Given the description of an element on the screen output the (x, y) to click on. 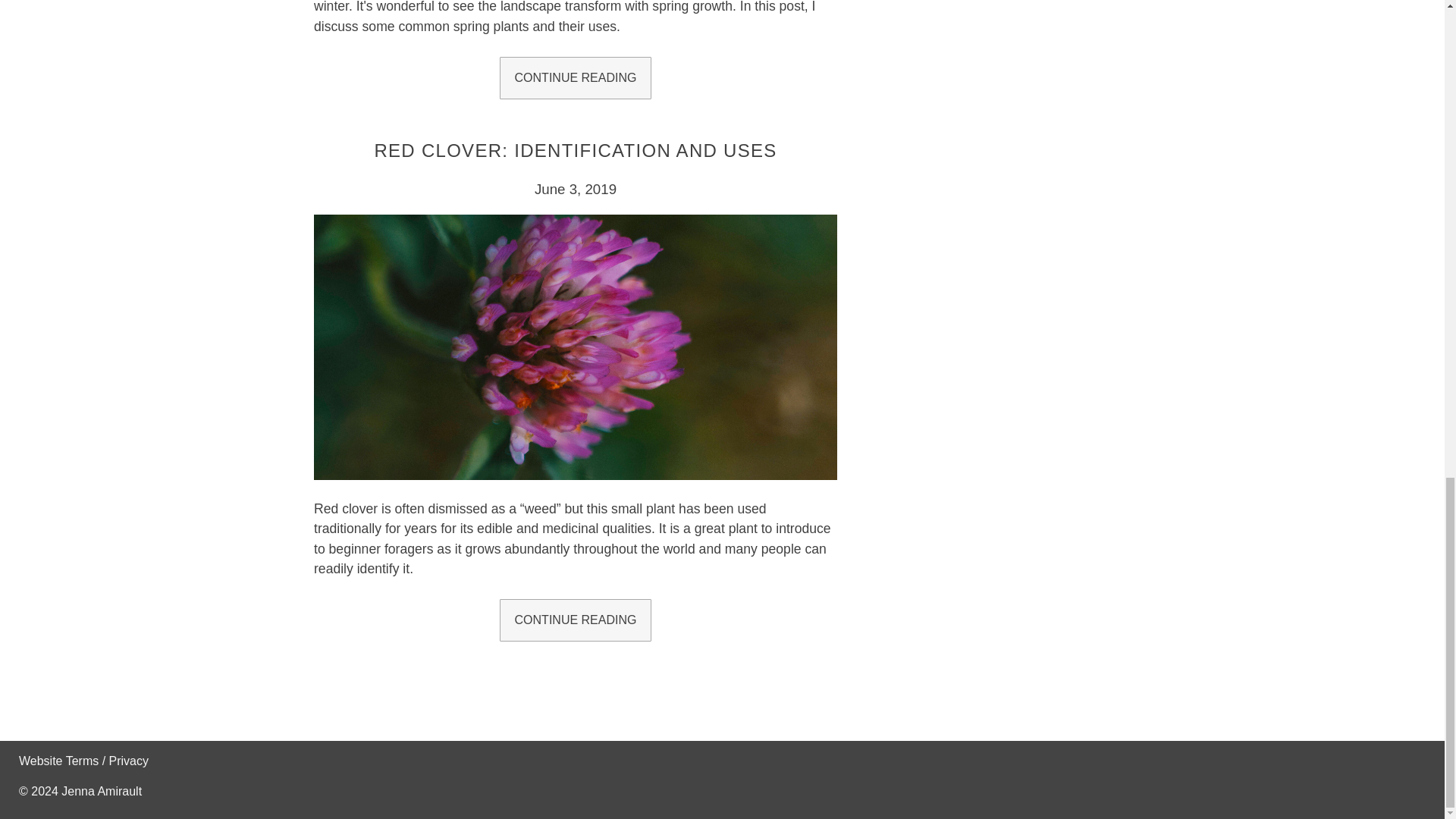
CONTINUE READING (574, 619)
RED CLOVER: IDENTIFICATION AND USES (575, 150)
CONTINUE READING (574, 77)
